Given the description of an element on the screen output the (x, y) to click on. 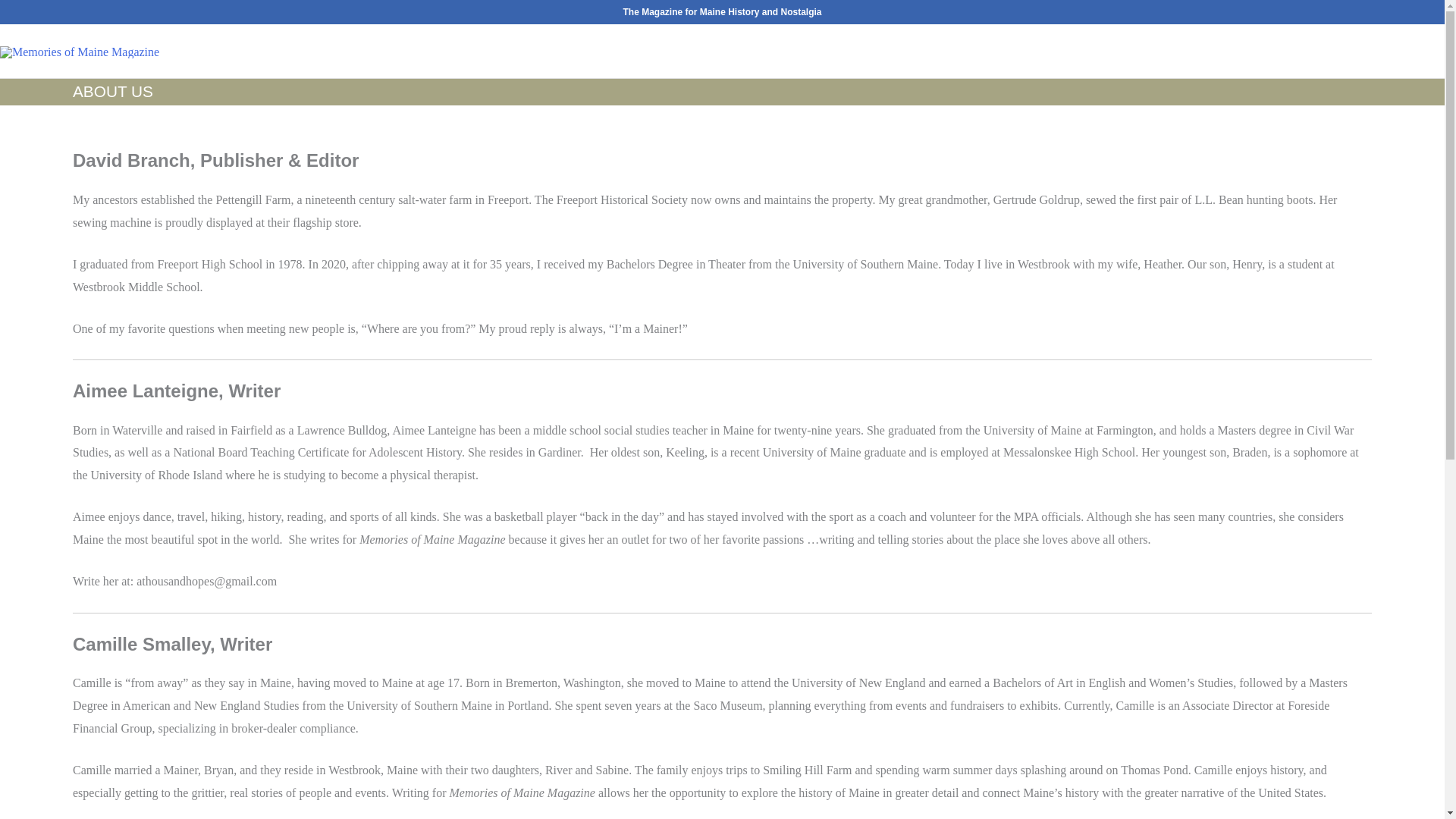
About Us (1262, 51)
Subscribe (1102, 51)
Advertise (1184, 51)
Our Magazine (1009, 51)
Contact (1336, 51)
